Given the description of an element on the screen output the (x, y) to click on. 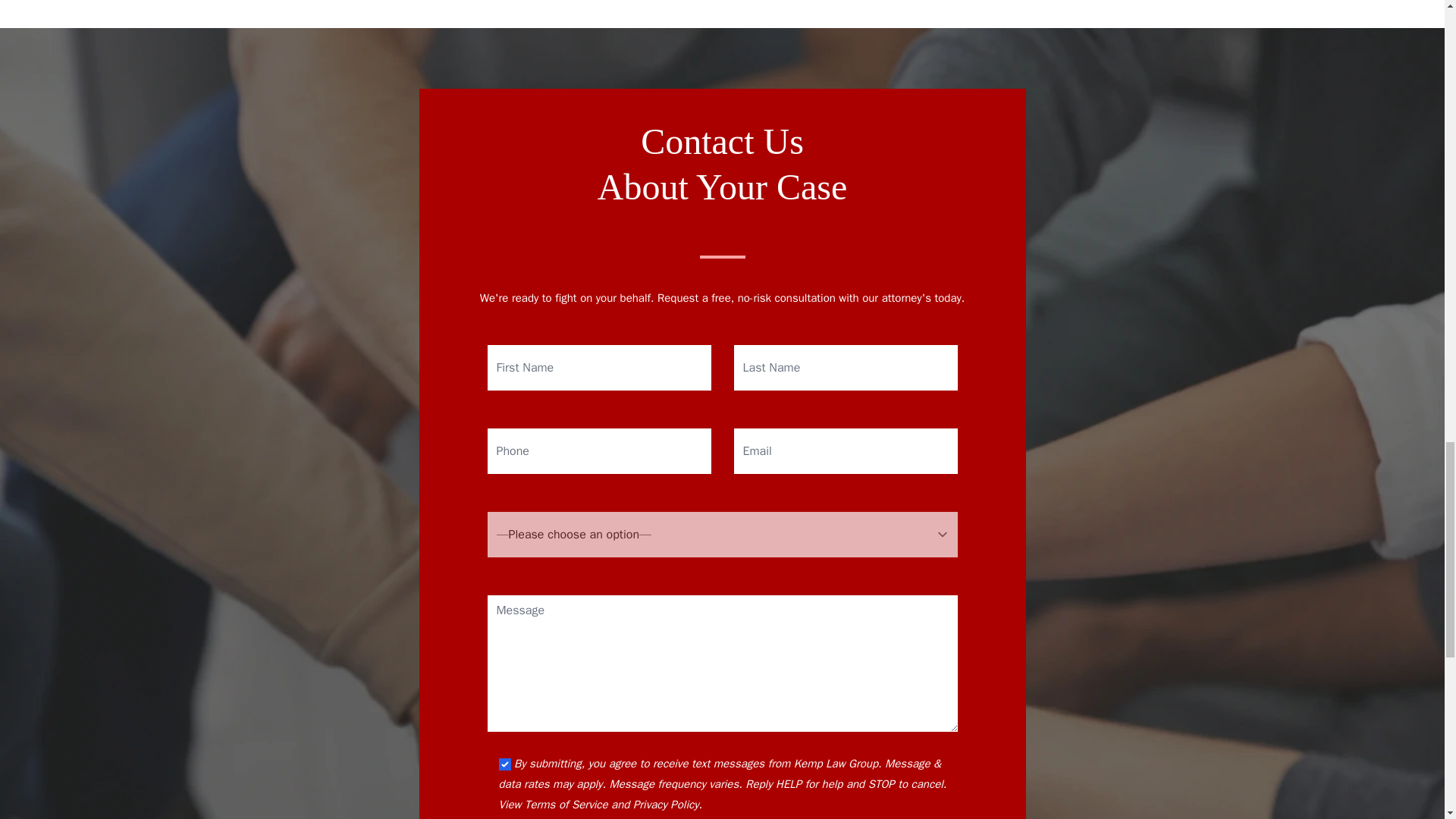
1 (505, 764)
